Given the description of an element on the screen output the (x, y) to click on. 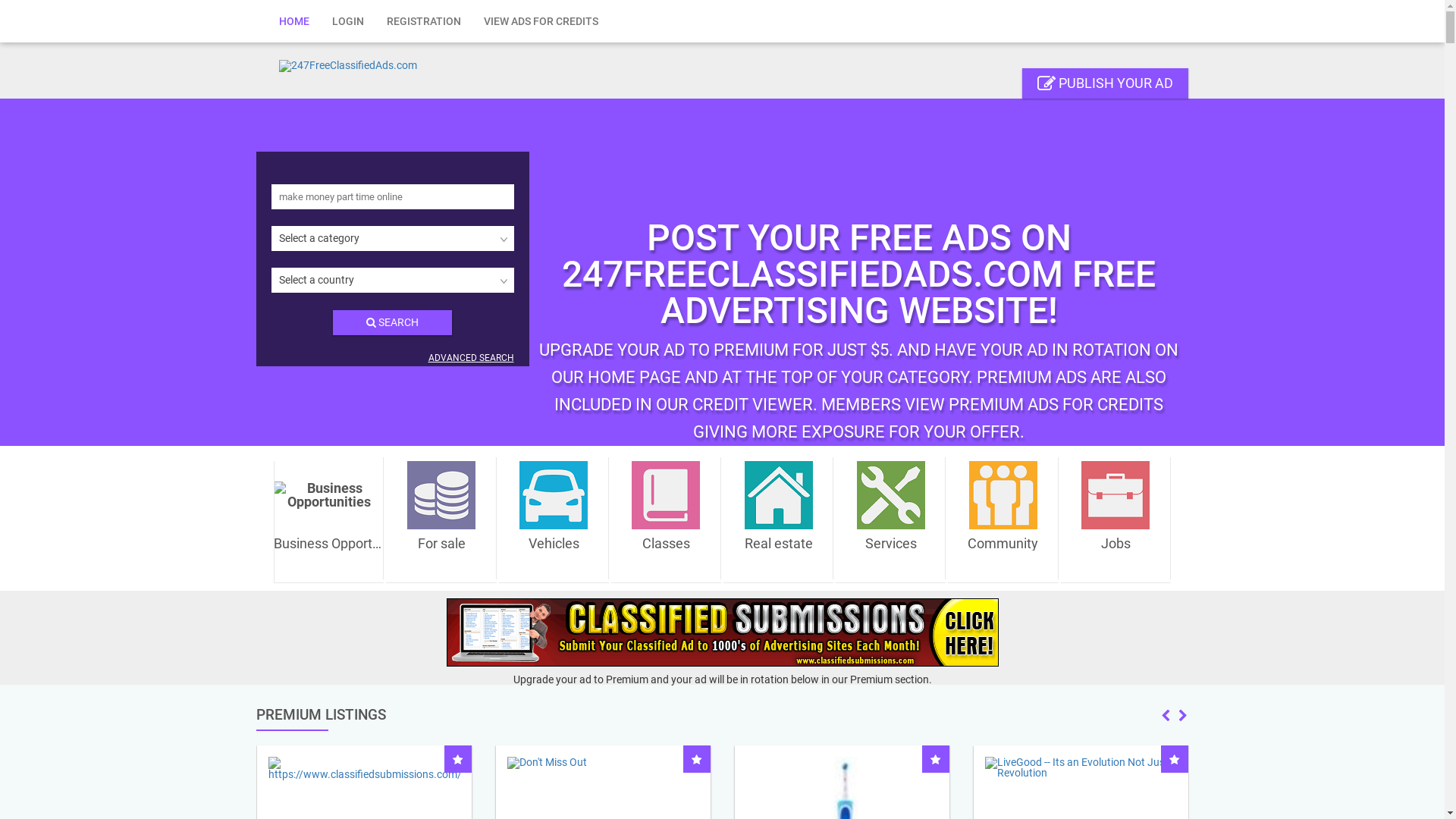
Real estate Element type: text (778, 514)
LOGIN Element type: text (347, 21)
SEARCH Element type: text (391, 322)
VIEW ADS FOR CREDITS Element type: text (539, 21)
REGISTRATION Element type: text (422, 21)
Community Element type: text (1002, 514)
For sale Element type: text (440, 514)
ADVANCED SEARCH Element type: text (470, 357)
Classes Element type: text (666, 514)
Business Opportunities Element type: text (328, 514)
Vehicles Element type: text (553, 514)
Services Element type: text (890, 514)
HOME Element type: text (293, 21)
PUBLISH YOUR AD Element type: text (1105, 83)
Jobs Element type: text (1115, 514)
